Given the description of an element on the screen output the (x, y) to click on. 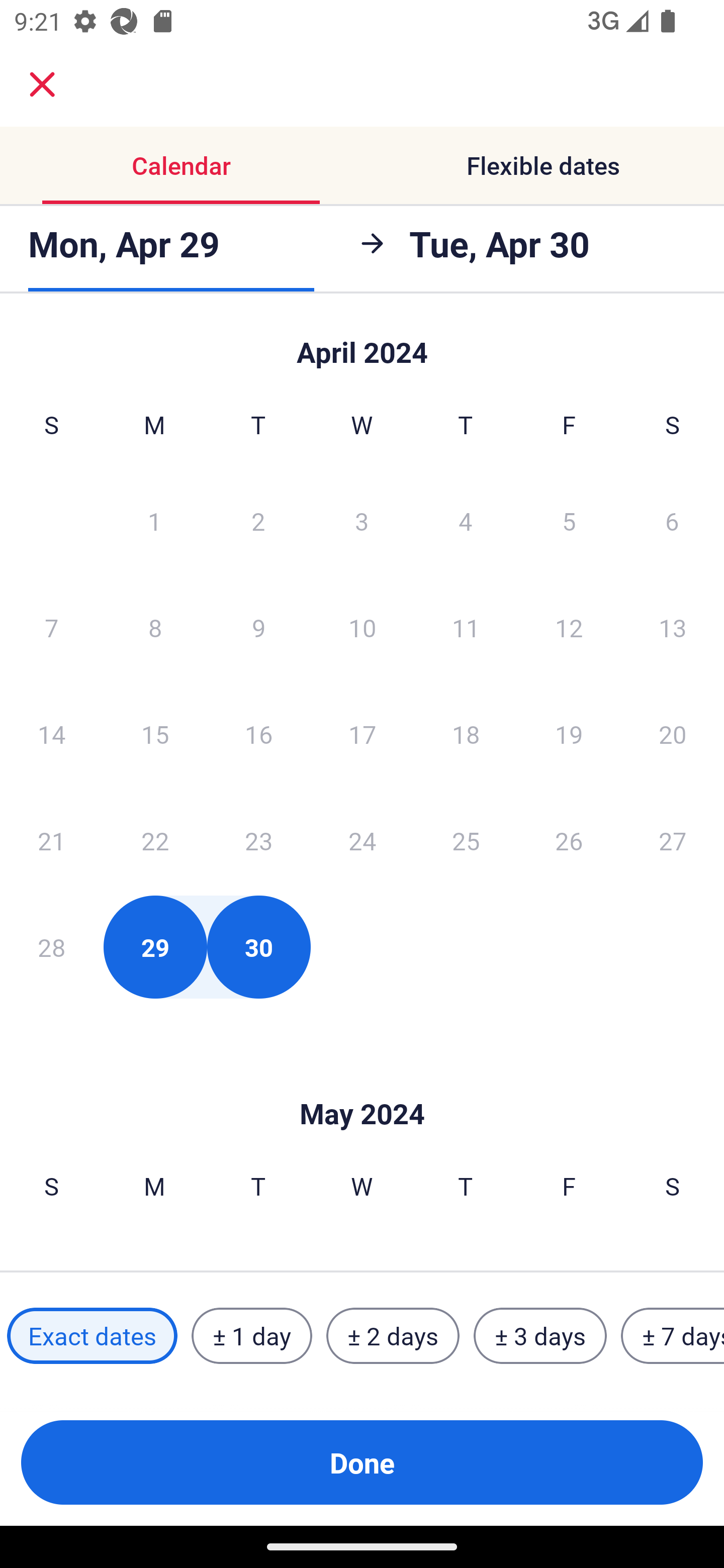
close. (42, 84)
Flexible dates (542, 164)
Skip to Done (362, 343)
1 Monday, April 1, 2024 (154, 520)
2 Tuesday, April 2, 2024 (257, 520)
3 Wednesday, April 3, 2024 (361, 520)
4 Thursday, April 4, 2024 (465, 520)
5 Friday, April 5, 2024 (568, 520)
6 Saturday, April 6, 2024 (672, 520)
7 Sunday, April 7, 2024 (51, 626)
8 Monday, April 8, 2024 (155, 626)
9 Tuesday, April 9, 2024 (258, 626)
10 Wednesday, April 10, 2024 (362, 626)
11 Thursday, April 11, 2024 (465, 626)
12 Friday, April 12, 2024 (569, 626)
13 Saturday, April 13, 2024 (672, 626)
14 Sunday, April 14, 2024 (51, 733)
15 Monday, April 15, 2024 (155, 733)
16 Tuesday, April 16, 2024 (258, 733)
17 Wednesday, April 17, 2024 (362, 733)
18 Thursday, April 18, 2024 (465, 733)
19 Friday, April 19, 2024 (569, 733)
20 Saturday, April 20, 2024 (672, 733)
21 Sunday, April 21, 2024 (51, 840)
22 Monday, April 22, 2024 (155, 840)
23 Tuesday, April 23, 2024 (258, 840)
24 Wednesday, April 24, 2024 (362, 840)
25 Thursday, April 25, 2024 (465, 840)
26 Friday, April 26, 2024 (569, 840)
27 Saturday, April 27, 2024 (672, 840)
28 Sunday, April 28, 2024 (51, 946)
Skip to Done (362, 1083)
Exact dates (92, 1335)
± 1 day (251, 1335)
± 2 days (392, 1335)
± 3 days (539, 1335)
± 7 days (672, 1335)
Done (361, 1462)
